Given the description of an element on the screen output the (x, y) to click on. 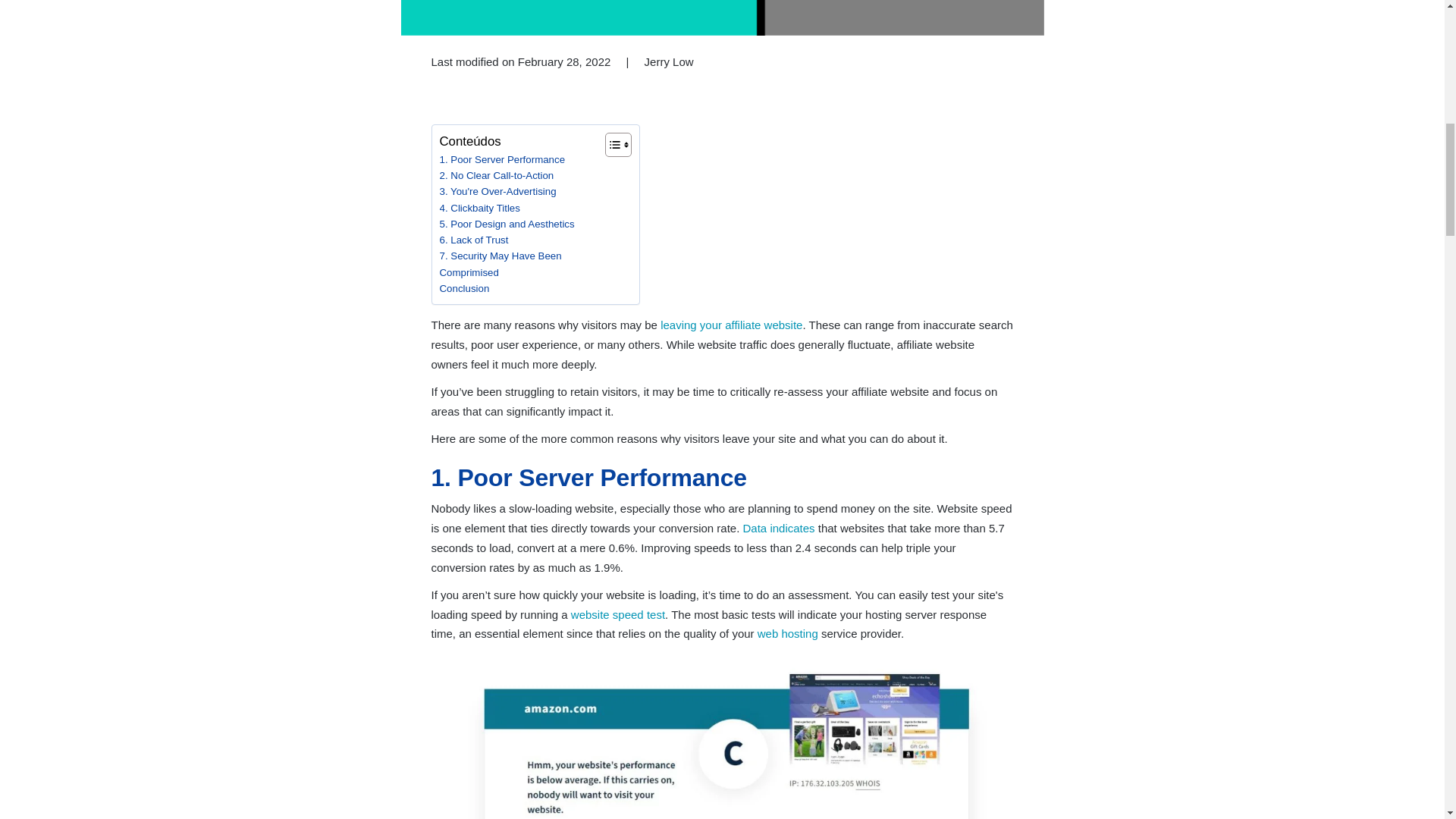
1. Poor Server Performance (502, 159)
6. Lack of Trust (473, 239)
Conclusion (464, 288)
3. You're Over-Advertising  (497, 191)
2. No Clear Call-to-Action  (496, 175)
7. Security May Have Been Comprimised (517, 264)
7. Security May Have Been Comprimised  (517, 264)
Conclusion  (464, 288)
4. Clickbaity Titles  (479, 207)
5. Poor Design and Aesthetics (507, 223)
web hosting (787, 633)
6. Lack of Trust (473, 239)
4. Clickbaity Titles (479, 207)
3. You're Over-Advertising (497, 191)
Data indicates (780, 527)
